Given the description of an element on the screen output the (x, y) to click on. 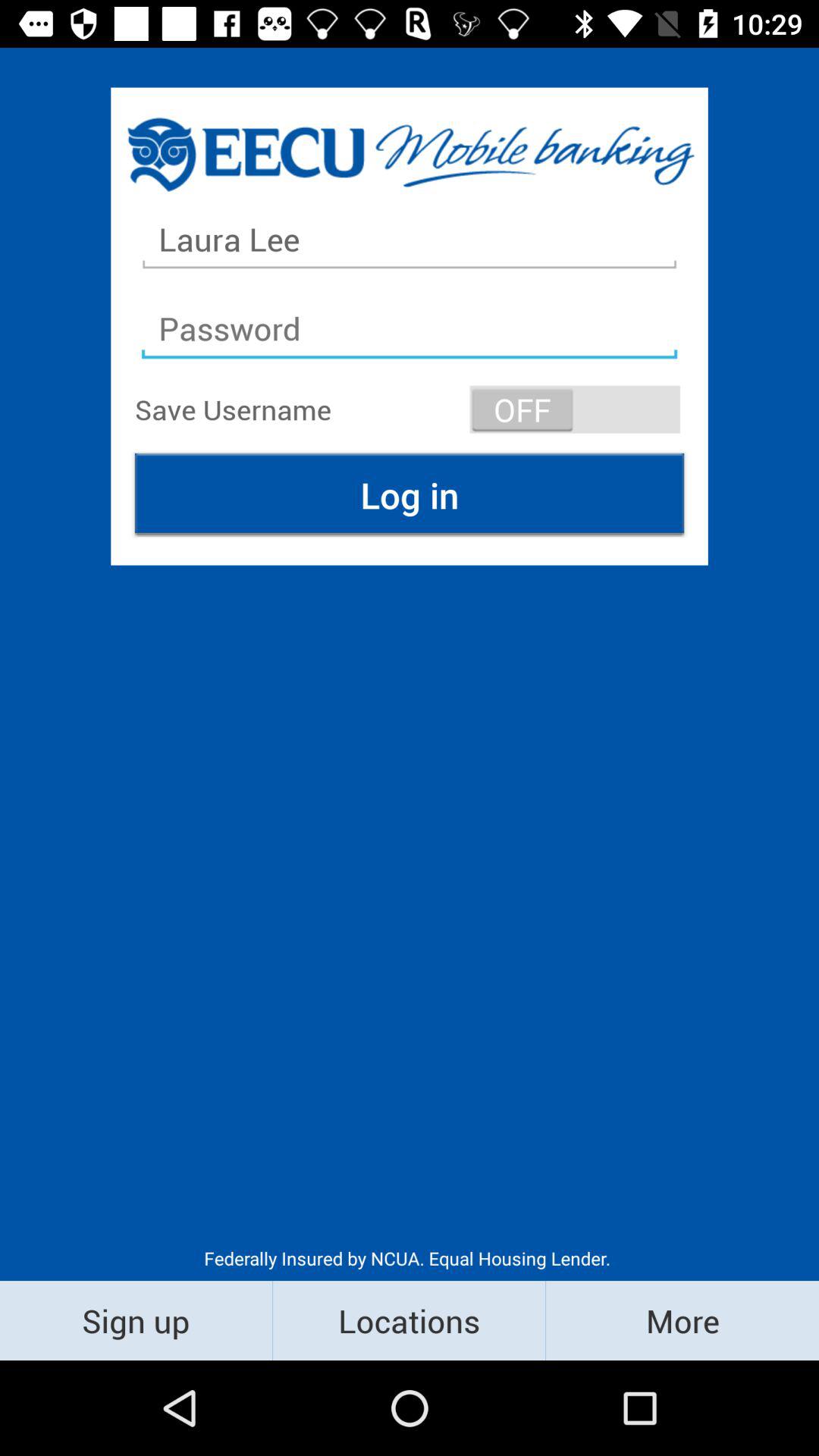
choose the icon next to sign up item (409, 1320)
